Given the description of an element on the screen output the (x, y) to click on. 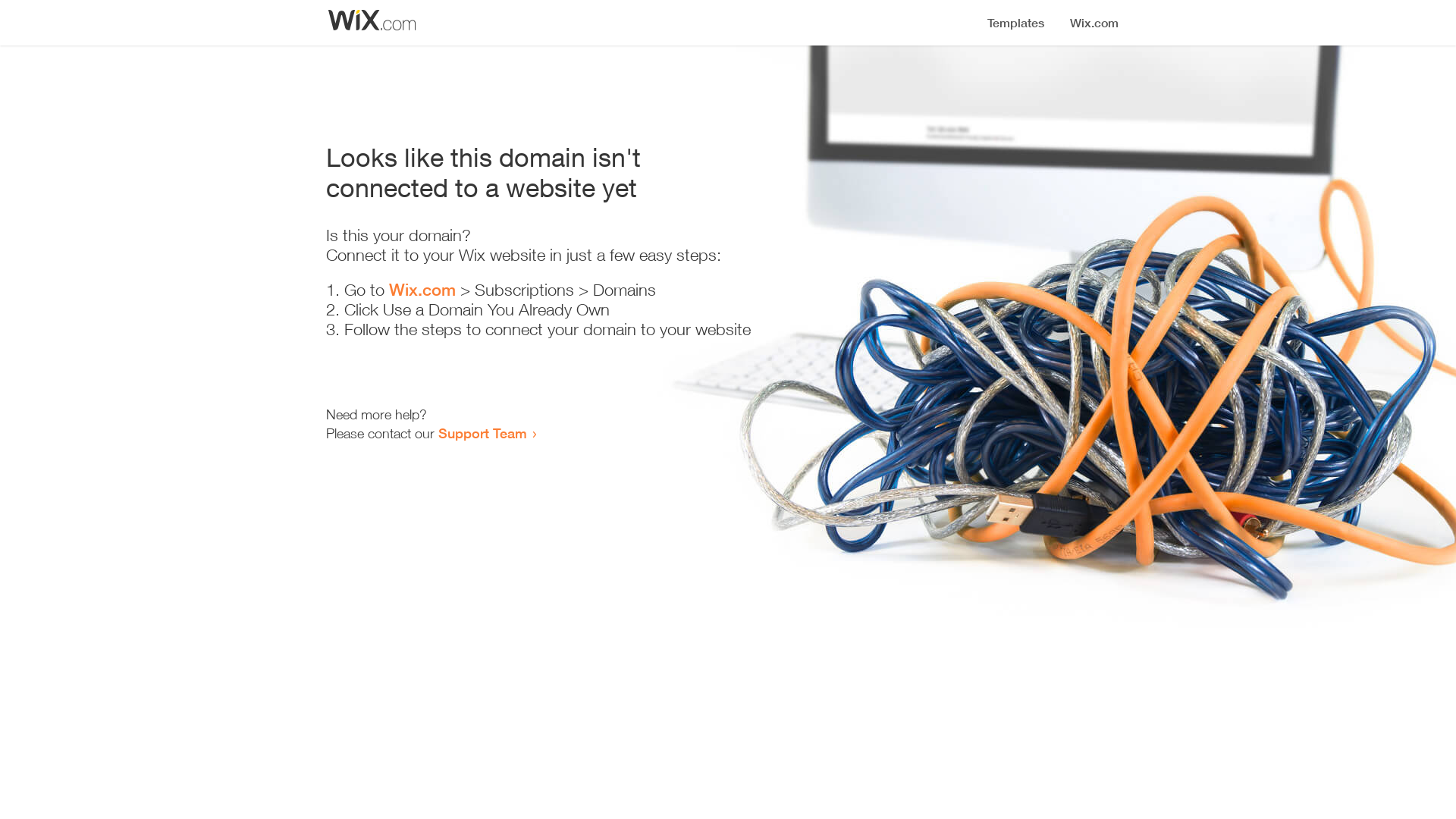
Wix.com Element type: text (422, 289)
Support Team Element type: text (482, 432)
